Given the description of an element on the screen output the (x, y) to click on. 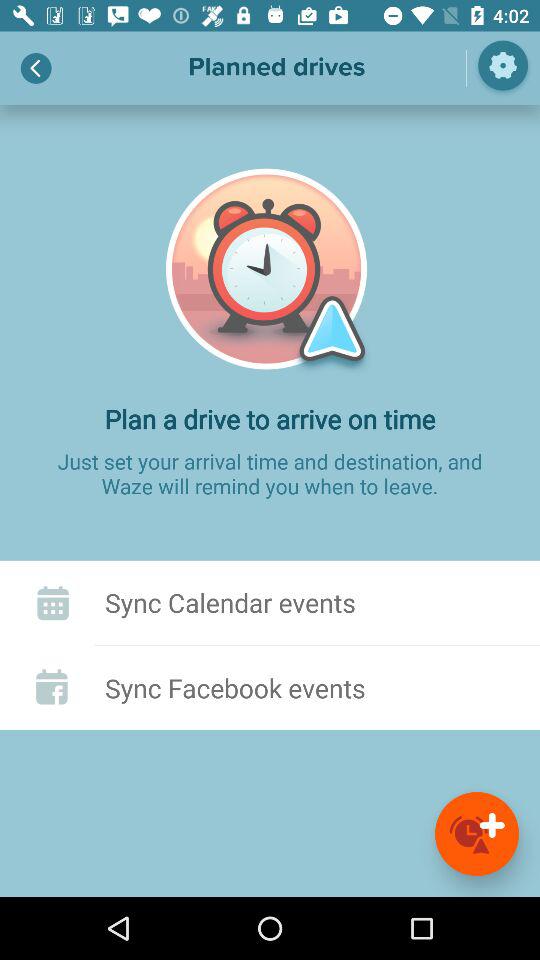
plan a drive with a specific arrival time (477, 834)
